Given the description of an element on the screen output the (x, y) to click on. 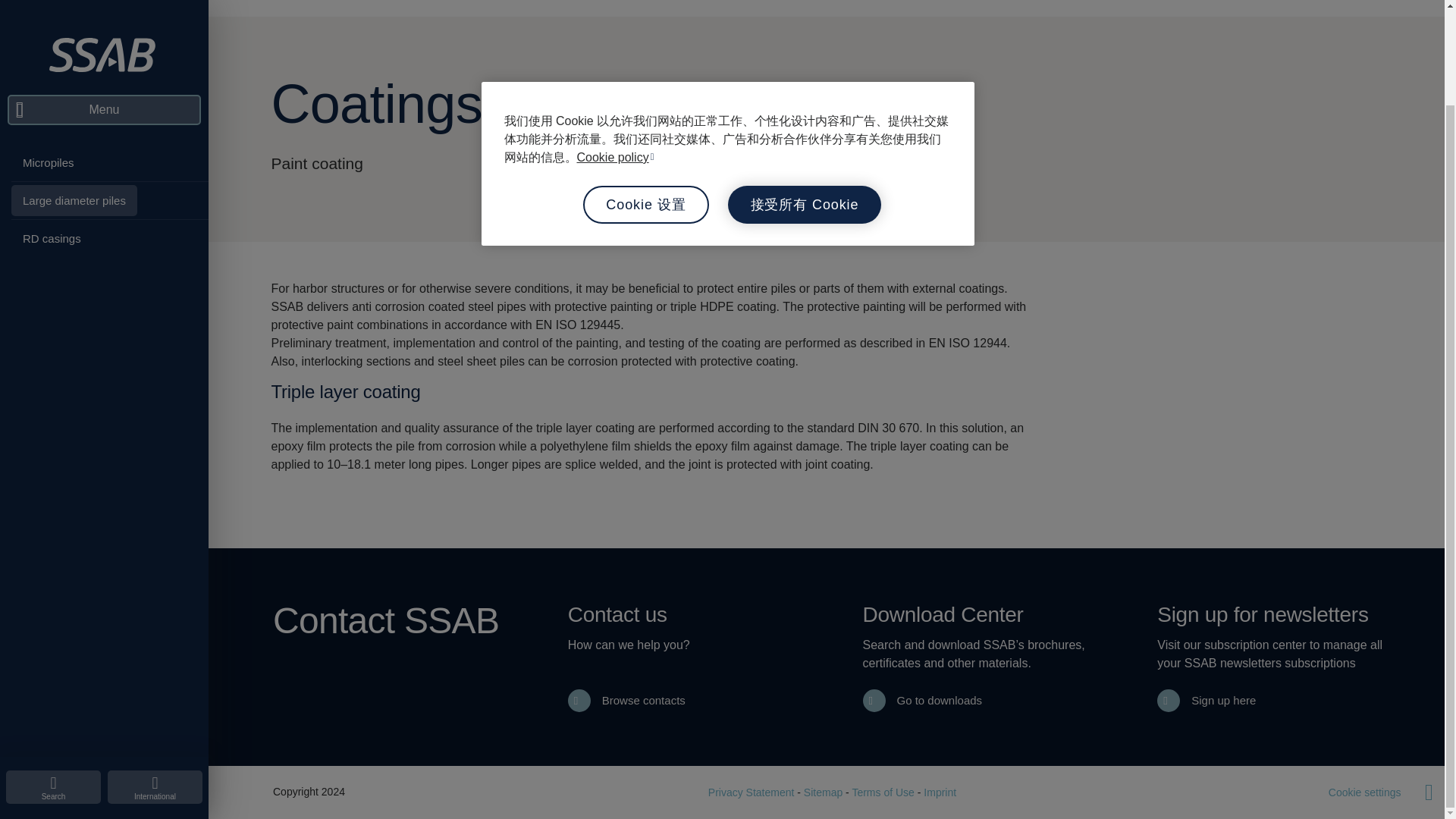
RD casings (52, 128)
International (154, 677)
Micropiles (48, 52)
Large diameter piles (73, 91)
Menu (103, 7)
Search (52, 677)
